Given the description of an element on the screen output the (x, y) to click on. 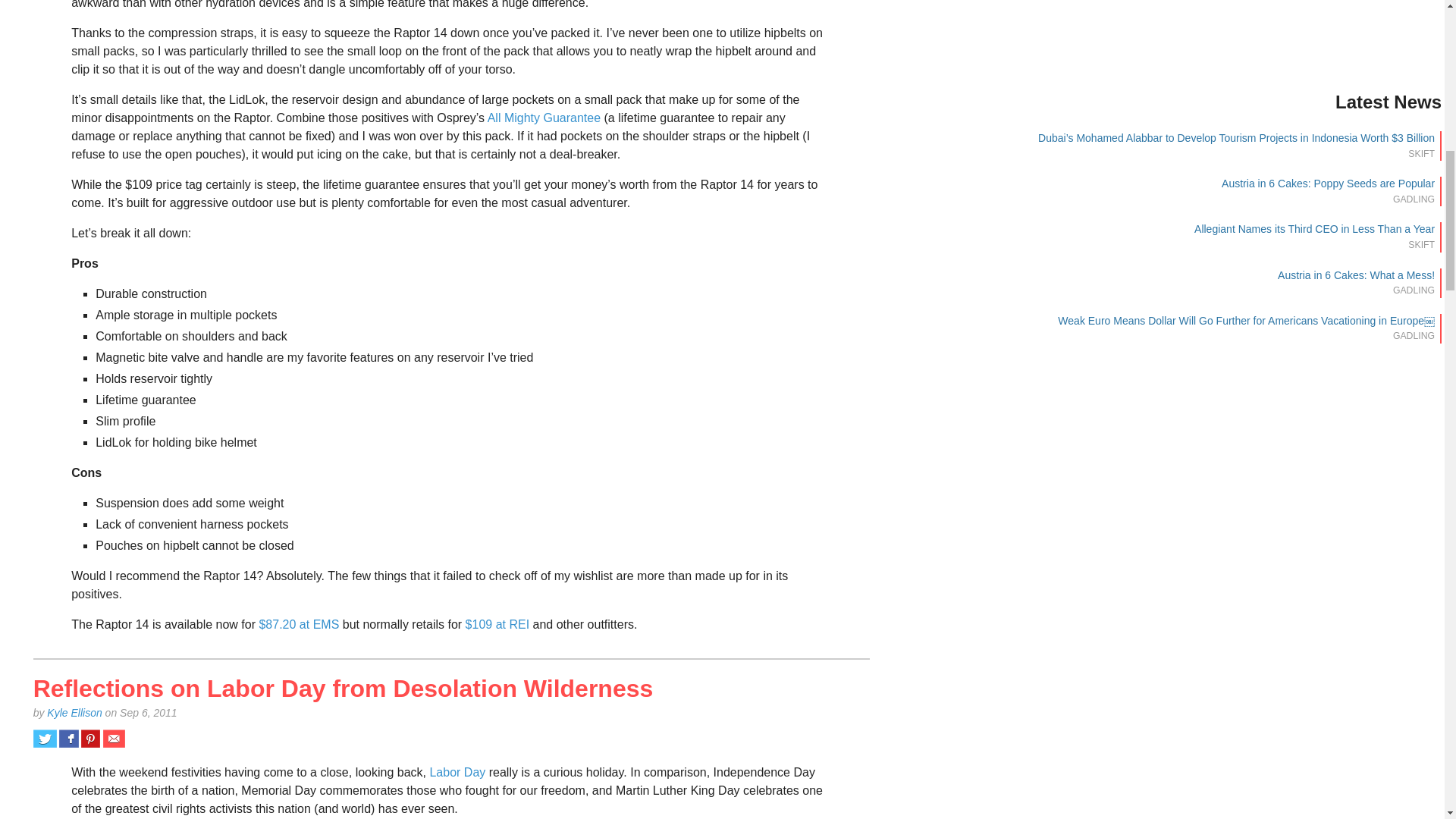
Reflections on Labor Day from Desolation Wilderness (343, 687)
Share via email (114, 738)
All Mighty Guarantee (543, 117)
Share on Pinterest (90, 738)
Share on Twitter (44, 738)
Reflections on Labor Day from Desolation Wilderness (343, 687)
Share on Facebook (68, 738)
